Given the description of an element on the screen output the (x, y) to click on. 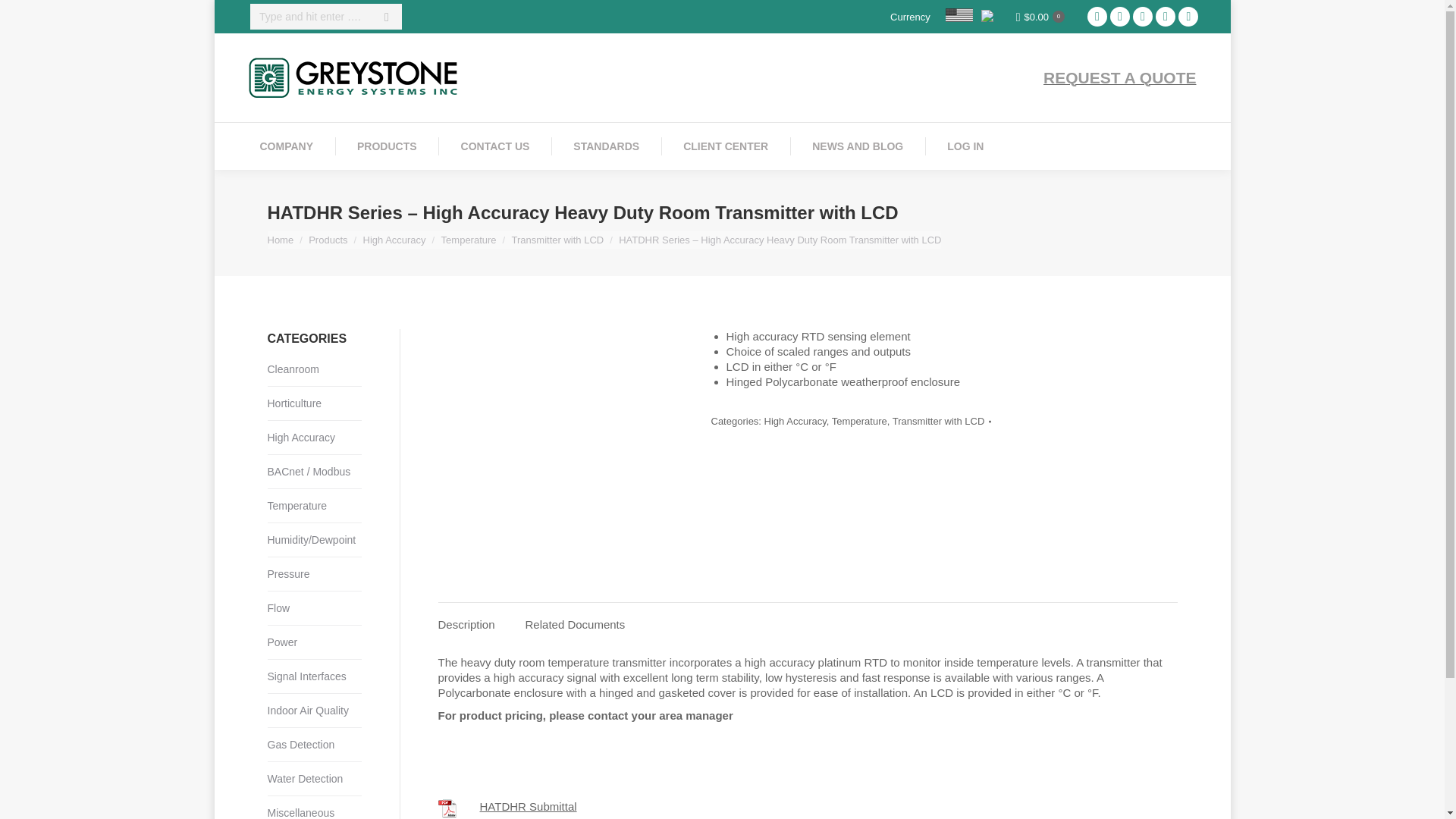
X-Twitter page opens in new window (1187, 16)
Search form (325, 16)
High Accuracy (393, 238)
Products (327, 238)
Linkedin page opens in new window (1096, 16)
Temperature (468, 238)
Facebook page opens in new window (1119, 16)
COMPANY (286, 146)
YouTube page opens in new window (1165, 16)
PRODUCTS (387, 146)
